Given the description of an element on the screen output the (x, y) to click on. 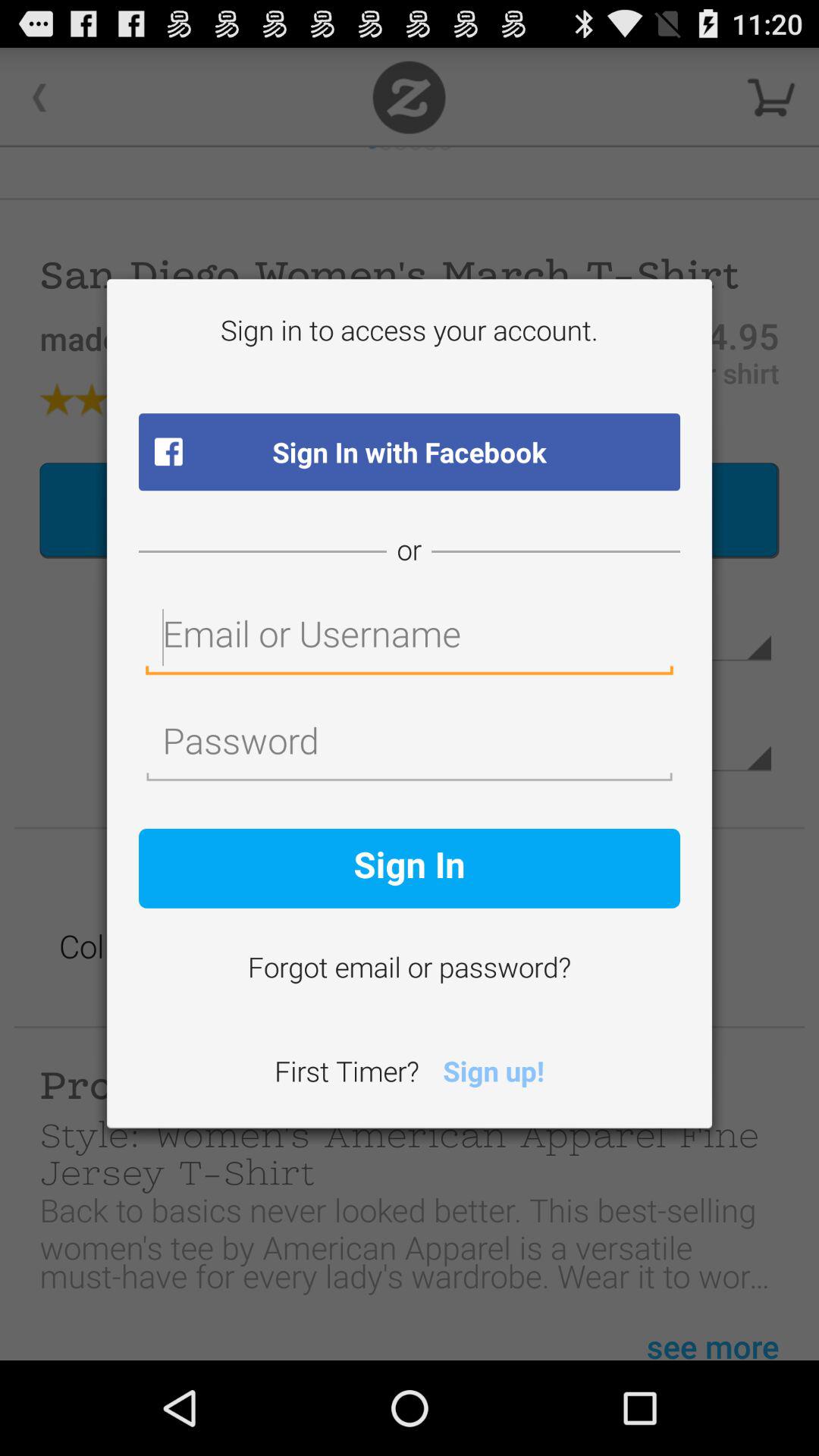
turn on the icon to the right of first timer? icon (493, 1073)
